Given the description of an element on the screen output the (x, y) to click on. 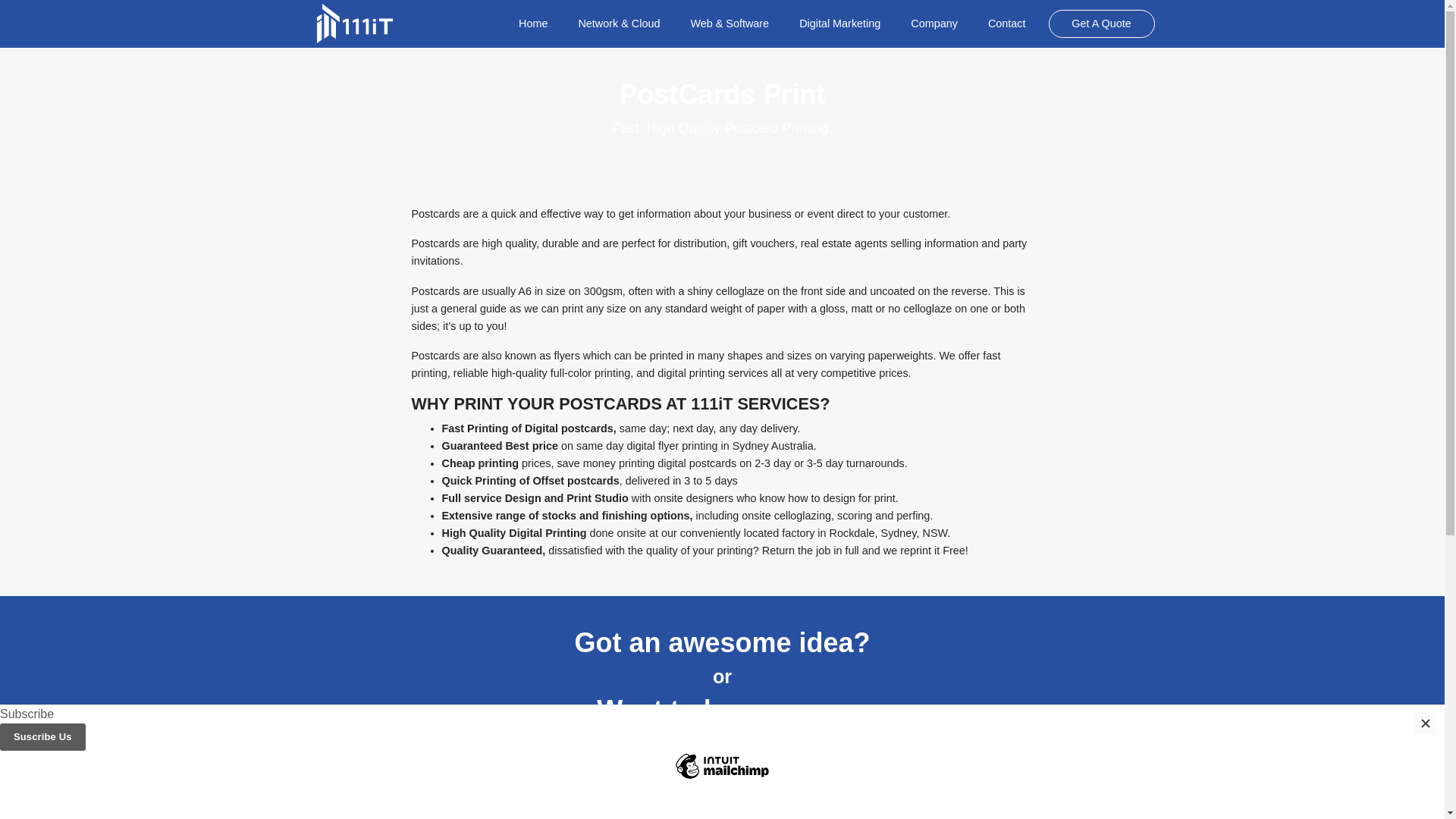
Home (532, 23)
Digital Marketing (840, 23)
Contact (1006, 23)
Lets have a chat (722, 765)
Get A Quote (1101, 23)
Company (933, 23)
